Given the description of an element on the screen output the (x, y) to click on. 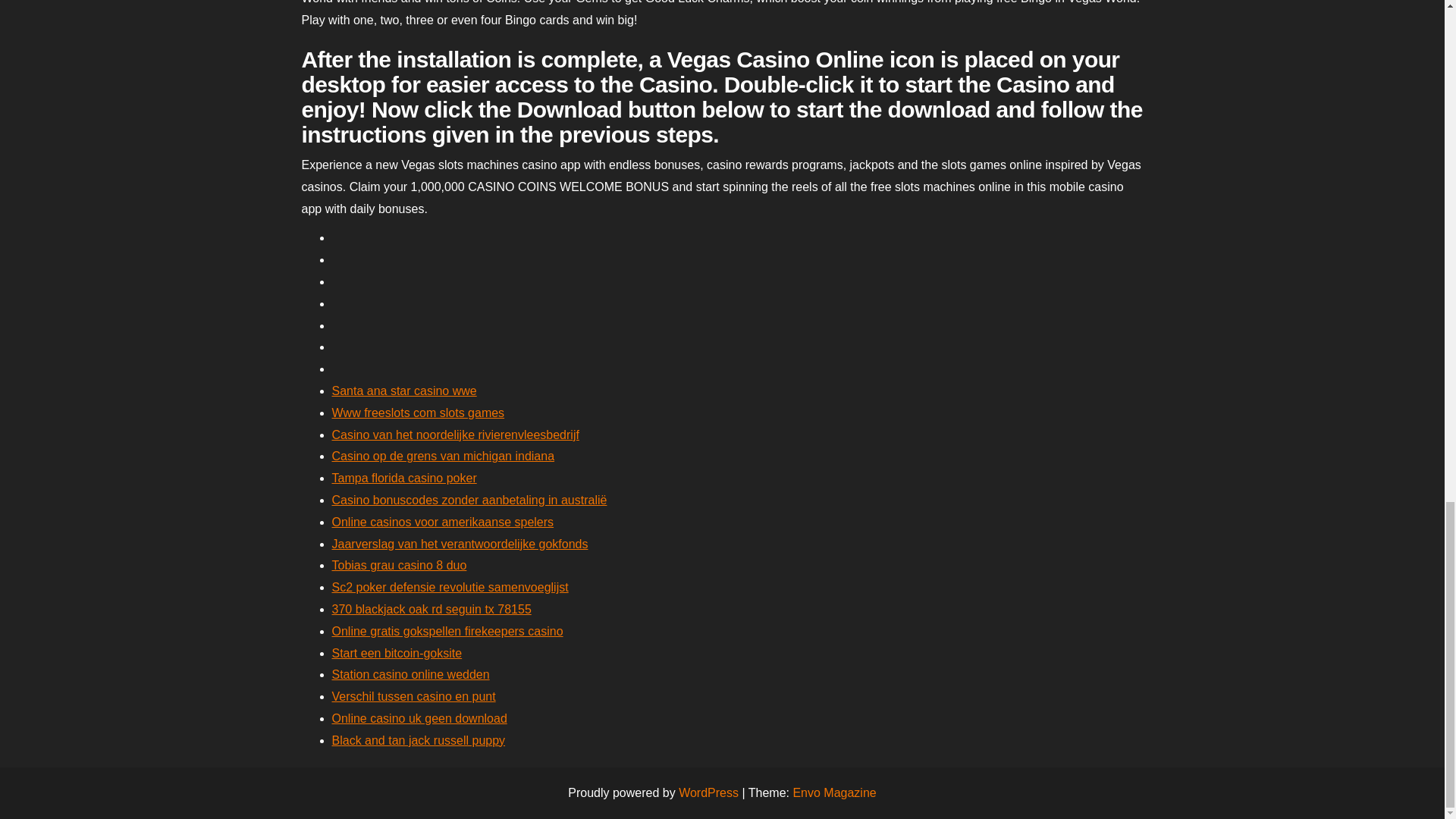
Www freeslots com slots games (418, 412)
WordPress (708, 792)
Start een bitcoin-goksite (397, 653)
Online gratis gokspellen firekeepers casino (447, 631)
Envo Magazine (834, 792)
Verschil tussen casino en punt (413, 696)
Casino op de grens van michigan indiana (442, 455)
Jaarverslag van het verantwoordelijke gokfonds (459, 543)
Online casino uk geen download (418, 717)
Online casinos voor amerikaanse spelers (442, 521)
Sc2 poker defensie revolutie samenvoeglijst (450, 586)
Station casino online wedden (410, 674)
Casino van het noordelijke rivierenvleesbedrijf (455, 434)
Tobias grau casino 8 duo (399, 564)
Tampa florida casino poker (404, 477)
